Given the description of an element on the screen output the (x, y) to click on. 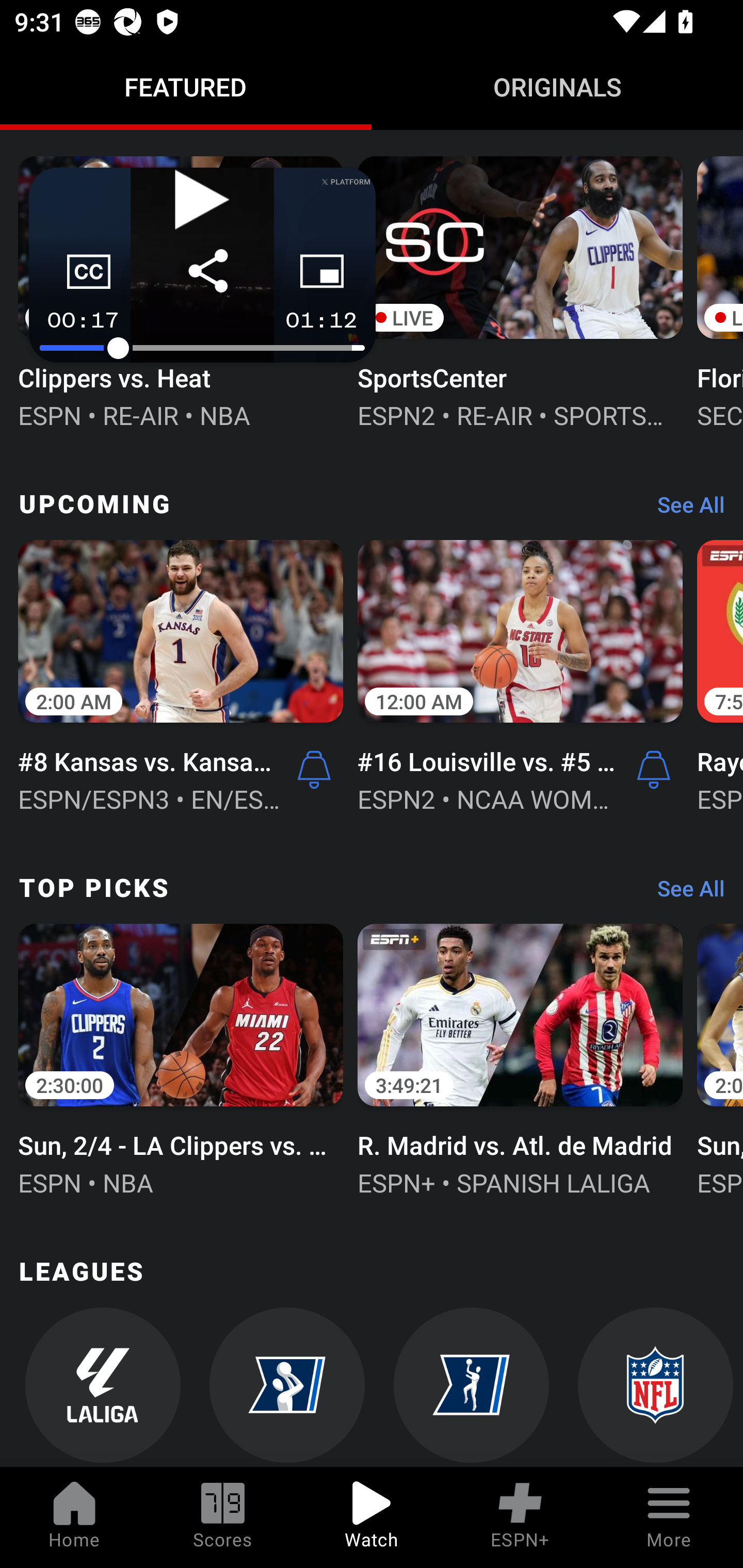
Originals ORIGINALS (557, 86)
LIVE Clippers vs. Heat ESPN • RE-AIR • NBA (180, 290)
LIVE SportsCenter ESPN2 • RE-AIR • SPORTSCENTER (519, 290)
See All (683, 509)
Alerts (314, 769)
Alerts (653, 769)
See All (683, 893)
NCAA Men's Basketball (286, 1387)
NCAA Women's Basketball (471, 1387)
Home (74, 1517)
Scores (222, 1517)
ESPN+ (519, 1517)
More (668, 1517)
